Given the description of an element on the screen output the (x, y) to click on. 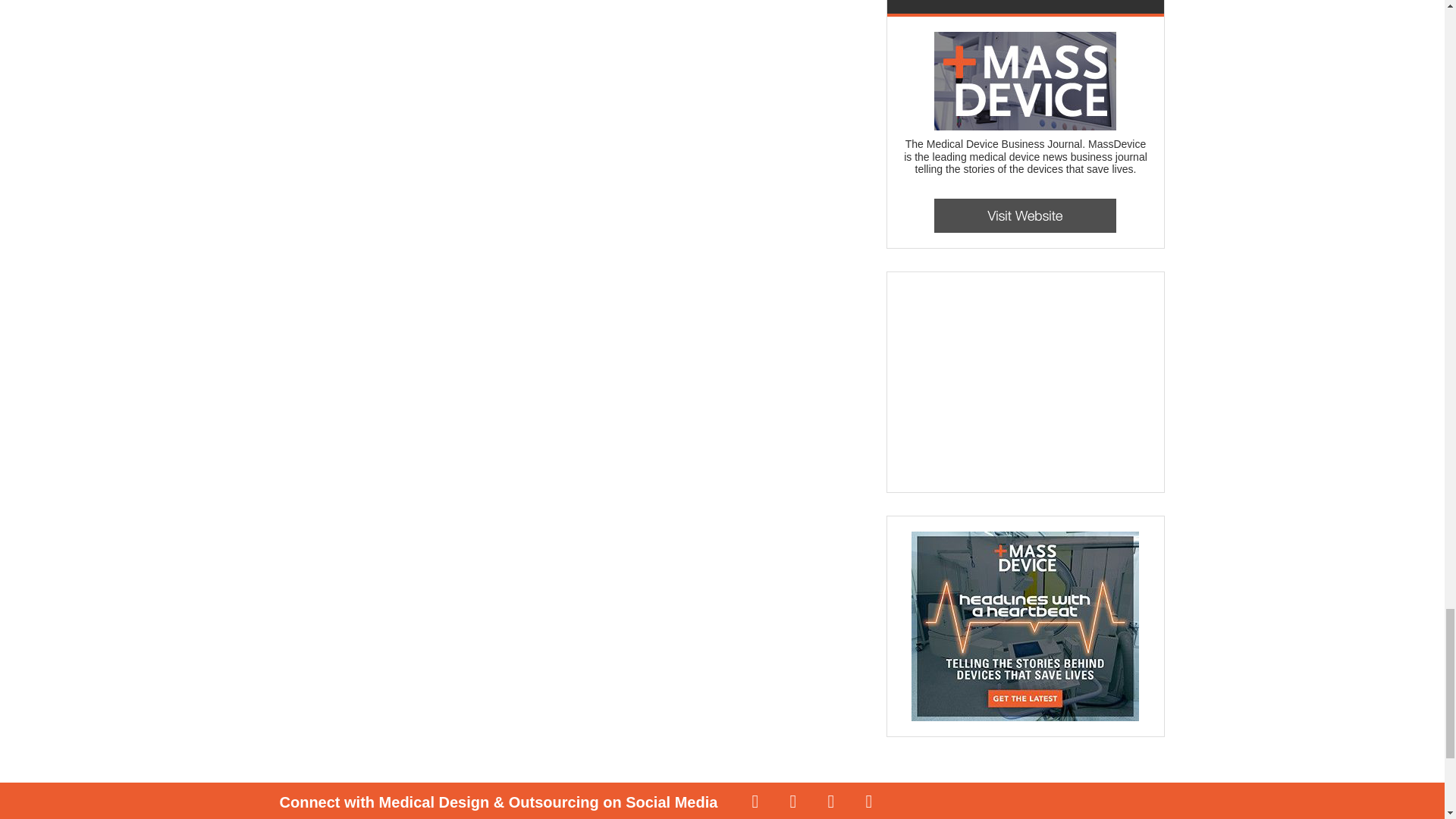
Mass Device (1025, 80)
Visit Website (1025, 215)
3rd party ad content (1015, 381)
